Given the description of an element on the screen output the (x, y) to click on. 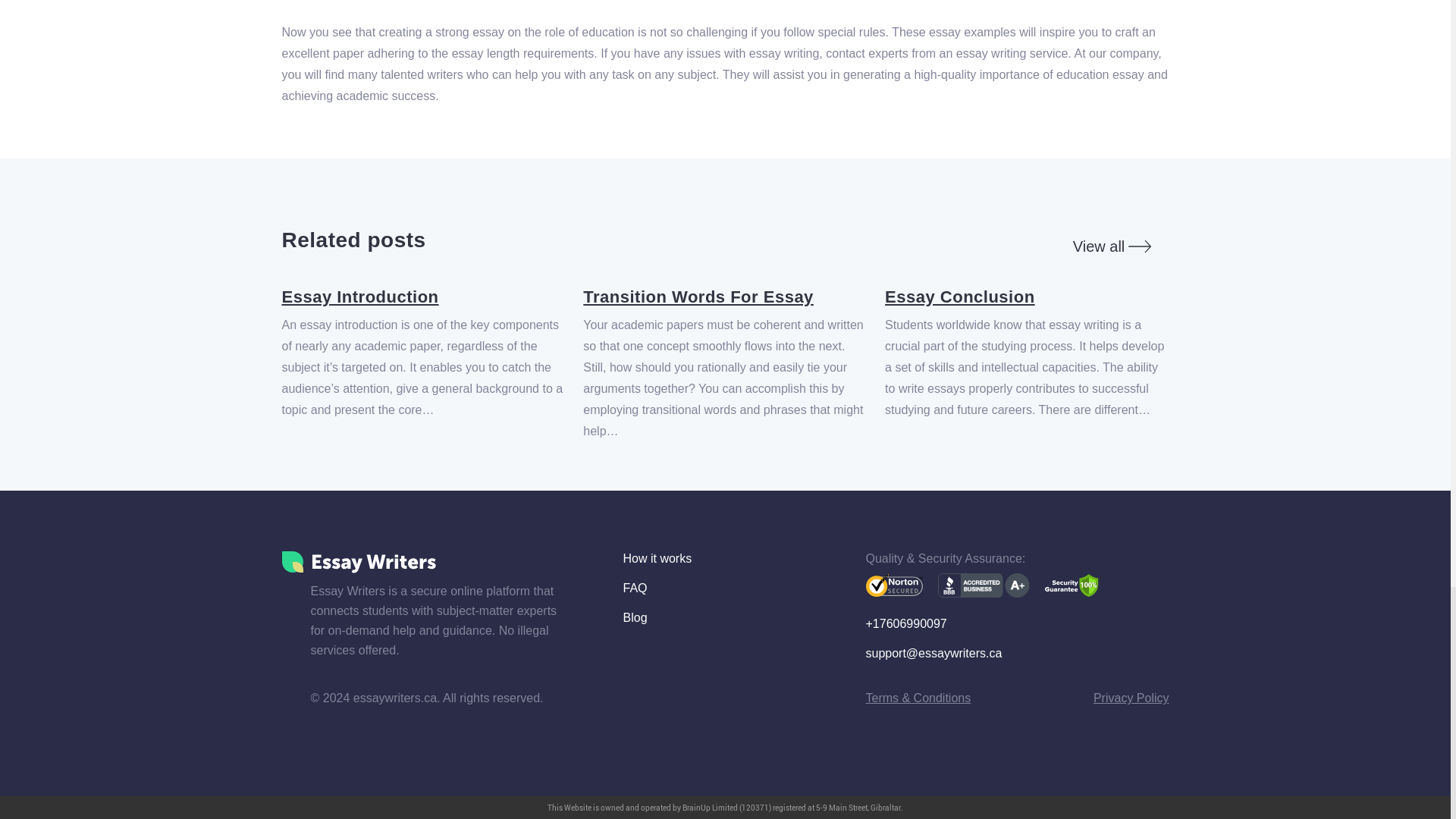
Blog (635, 617)
FAQ (635, 587)
View all (1112, 246)
How it works (658, 558)
Privacy Policy (1131, 698)
